Given the description of an element on the screen output the (x, y) to click on. 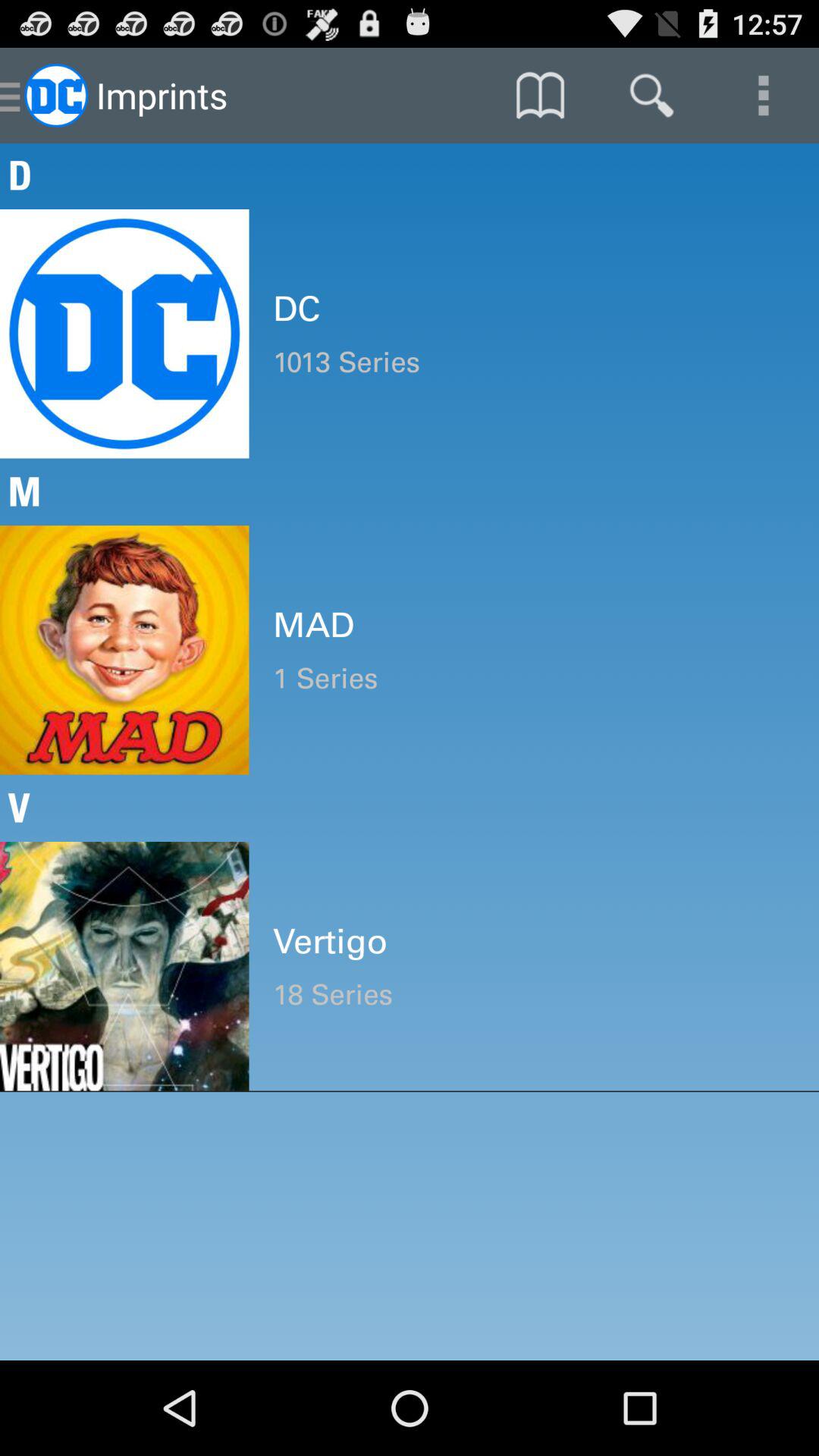
click icon below the d (534, 308)
